Given the description of an element on the screen output the (x, y) to click on. 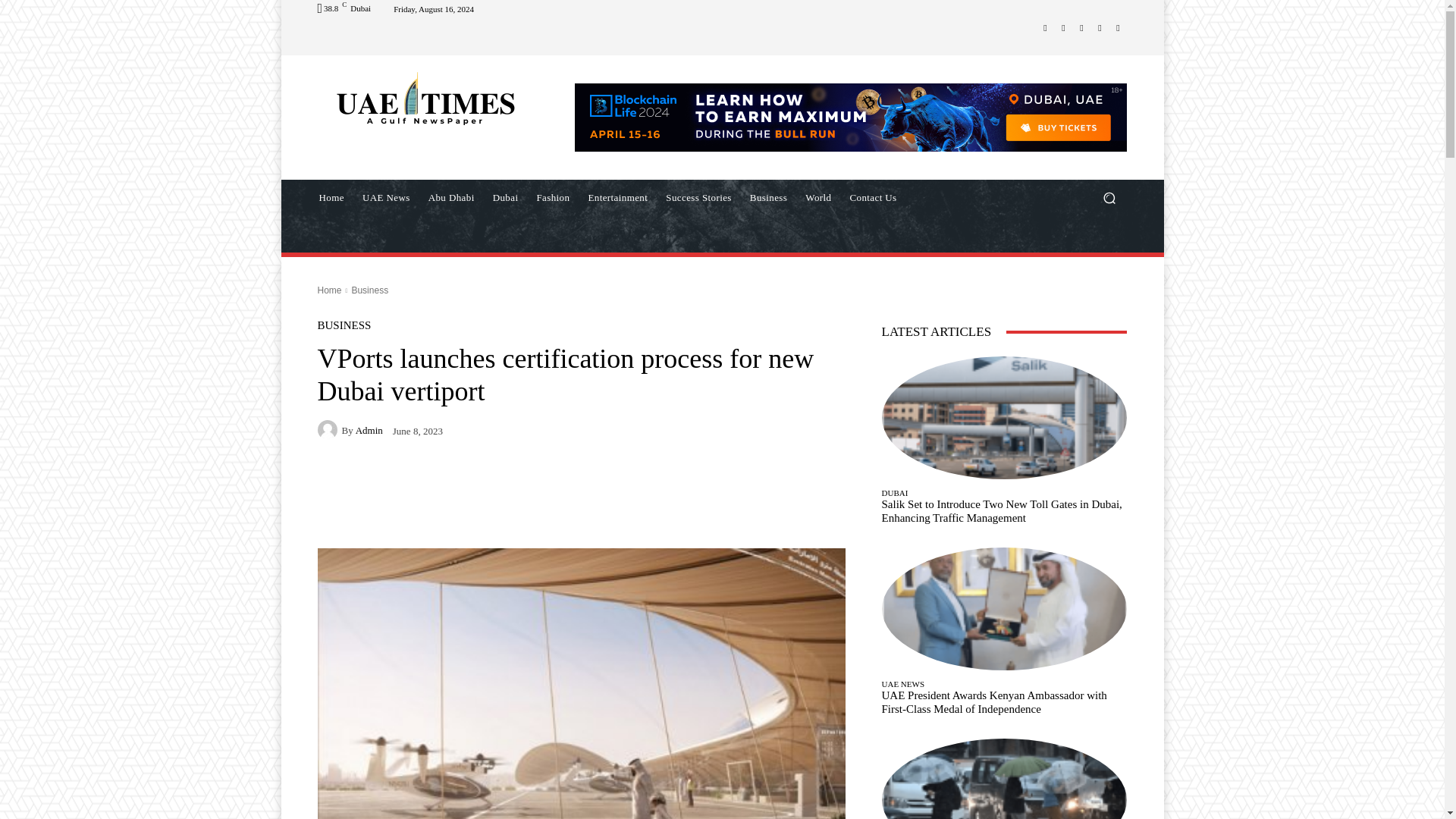
Home (330, 197)
World (818, 197)
Mail (1080, 27)
Success Stories (698, 197)
UAE News (386, 197)
Business (768, 197)
Twitter (1099, 27)
Contact Us (872, 197)
Instagram (1062, 27)
Entertainment (617, 197)
